Given the description of an element on the screen output the (x, y) to click on. 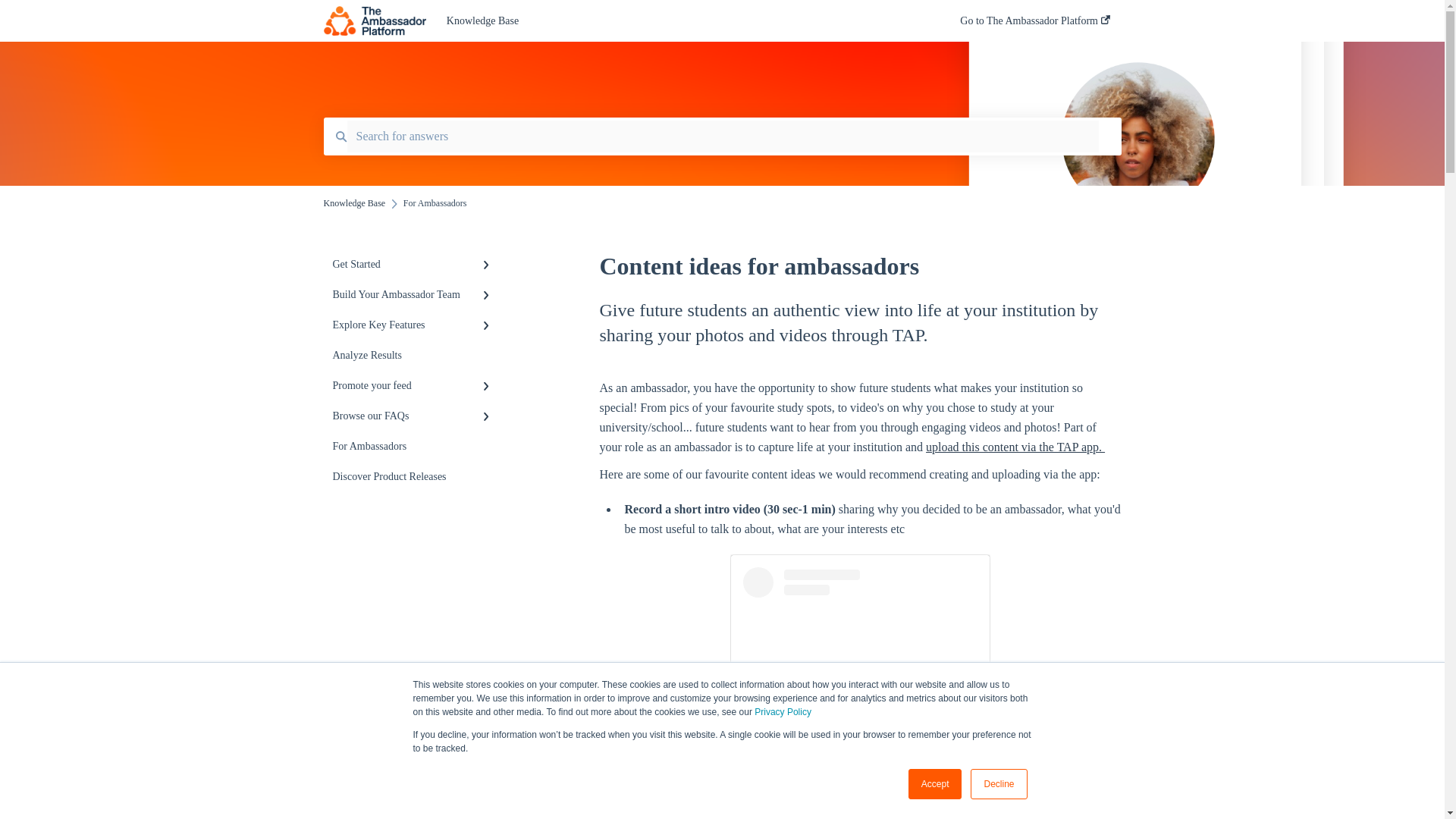
Decline (998, 784)
Privacy Policy (782, 711)
Knowledge Base (680, 21)
Accept (935, 784)
Go to The Ambassador Platform (1034, 25)
